Given the description of an element on the screen output the (x, y) to click on. 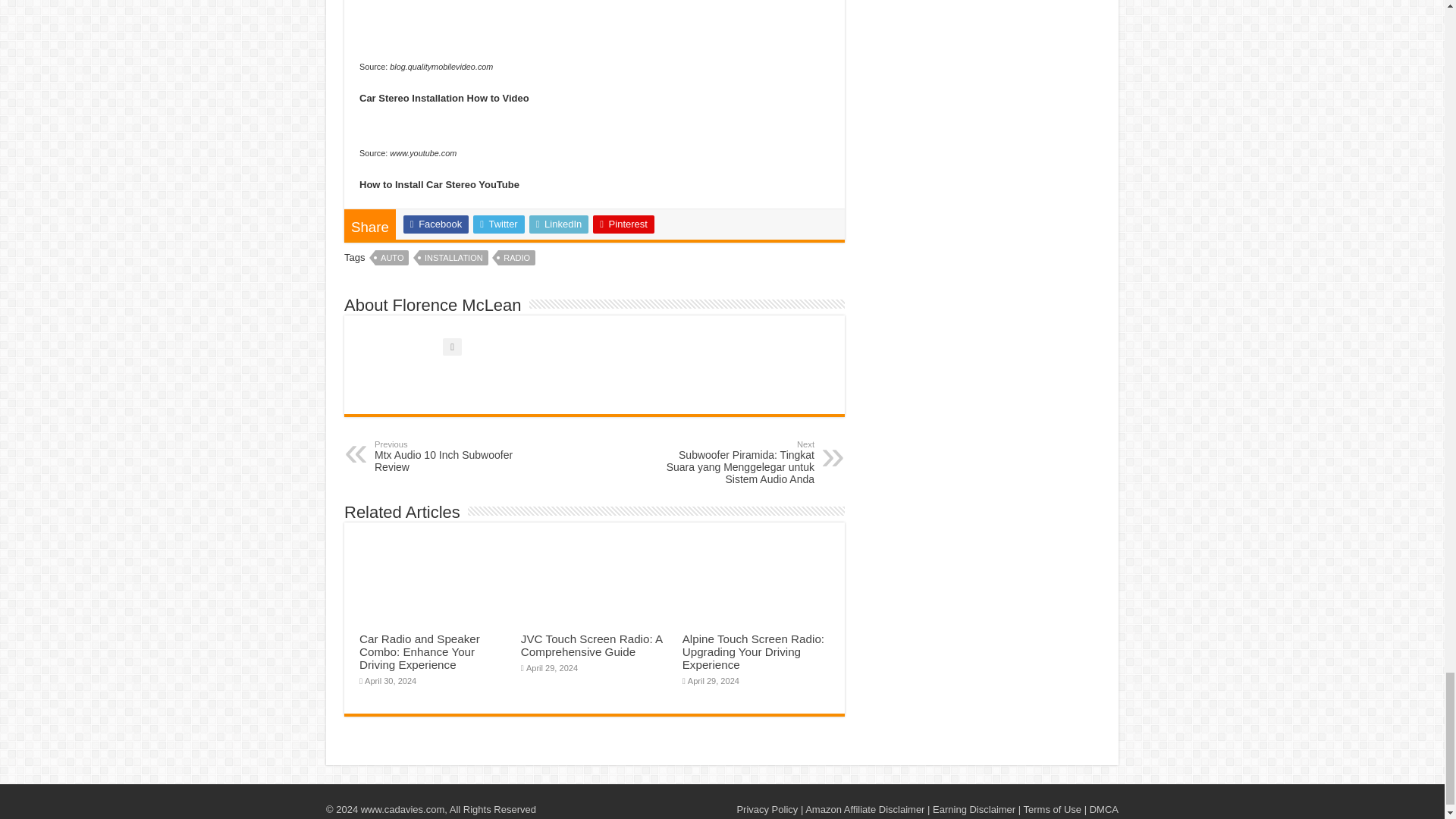
LinkedIn (559, 224)
AUTO (392, 257)
JVC Touch Screen Radio: A Comprehensive Guide (451, 456)
Alpine Touch Screen Radio: Upgrading Your Driving Experience (591, 645)
Facebook (753, 651)
RADIO (435, 224)
Twitter (516, 257)
INSTALLATION (498, 224)
Pinterest (453, 257)
Car Radio and Speaker Combo: Enhance Your Driving Experience (622, 224)
